Given the description of an element on the screen output the (x, y) to click on. 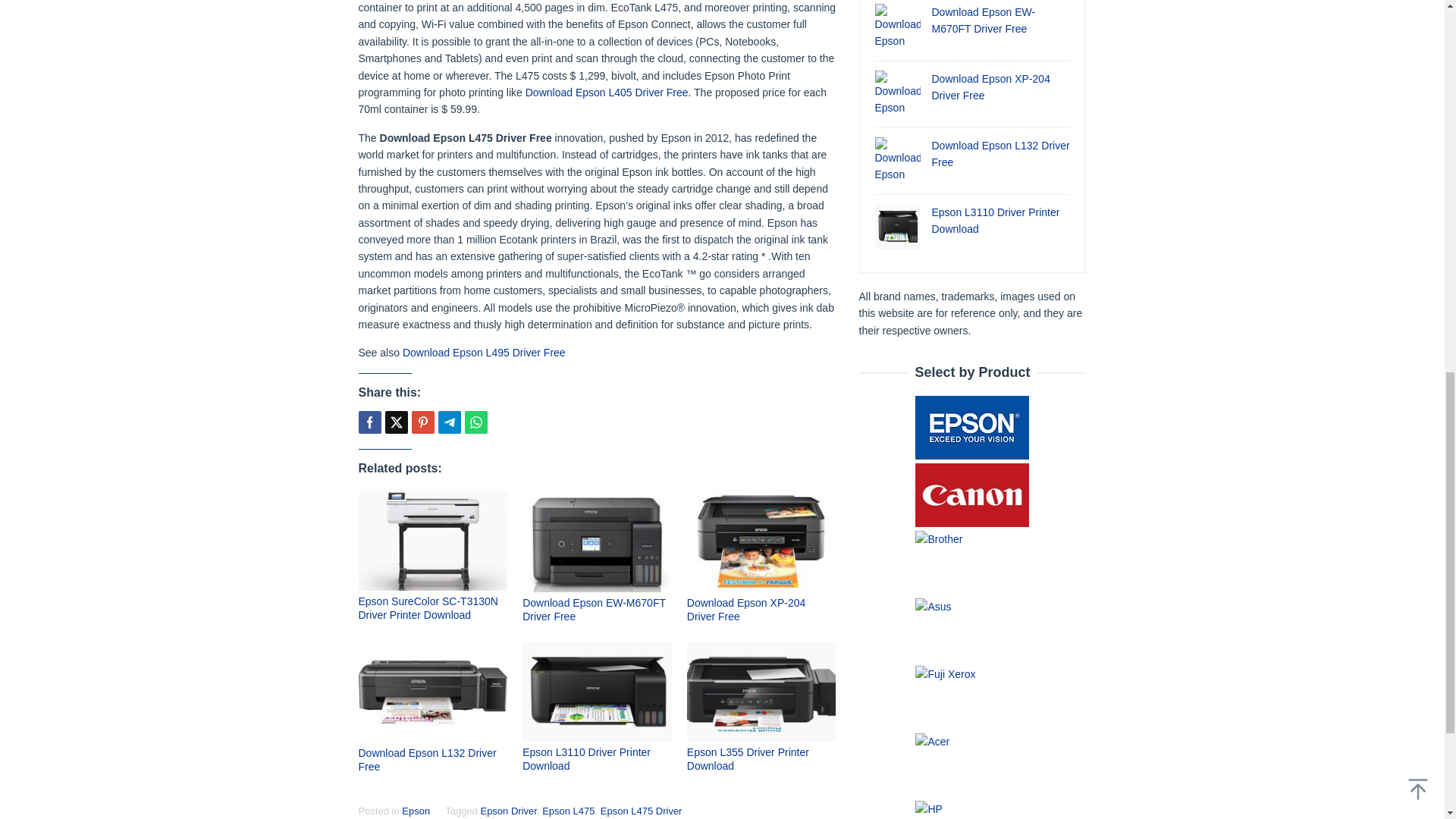
Download Epson XP-204 Driver Free (746, 609)
Download Epson L405 Driver Free (606, 92)
Pin this (421, 422)
Download Epson L132 Driver Free (427, 759)
Permalink to: Download Epson EW-M670FT Driver Free (593, 609)
Tweet this (396, 422)
Download Epson EW-M670FT Driver Free (593, 609)
Telegram Share (449, 422)
Epson L3110 Driver Printer Download (586, 759)
Epson SureColor SC-T3130N Driver Printer Download (427, 607)
Share this (369, 422)
Whatsapp (475, 422)
Download Epson L495 Driver Free (484, 352)
